Given the description of an element on the screen output the (x, y) to click on. 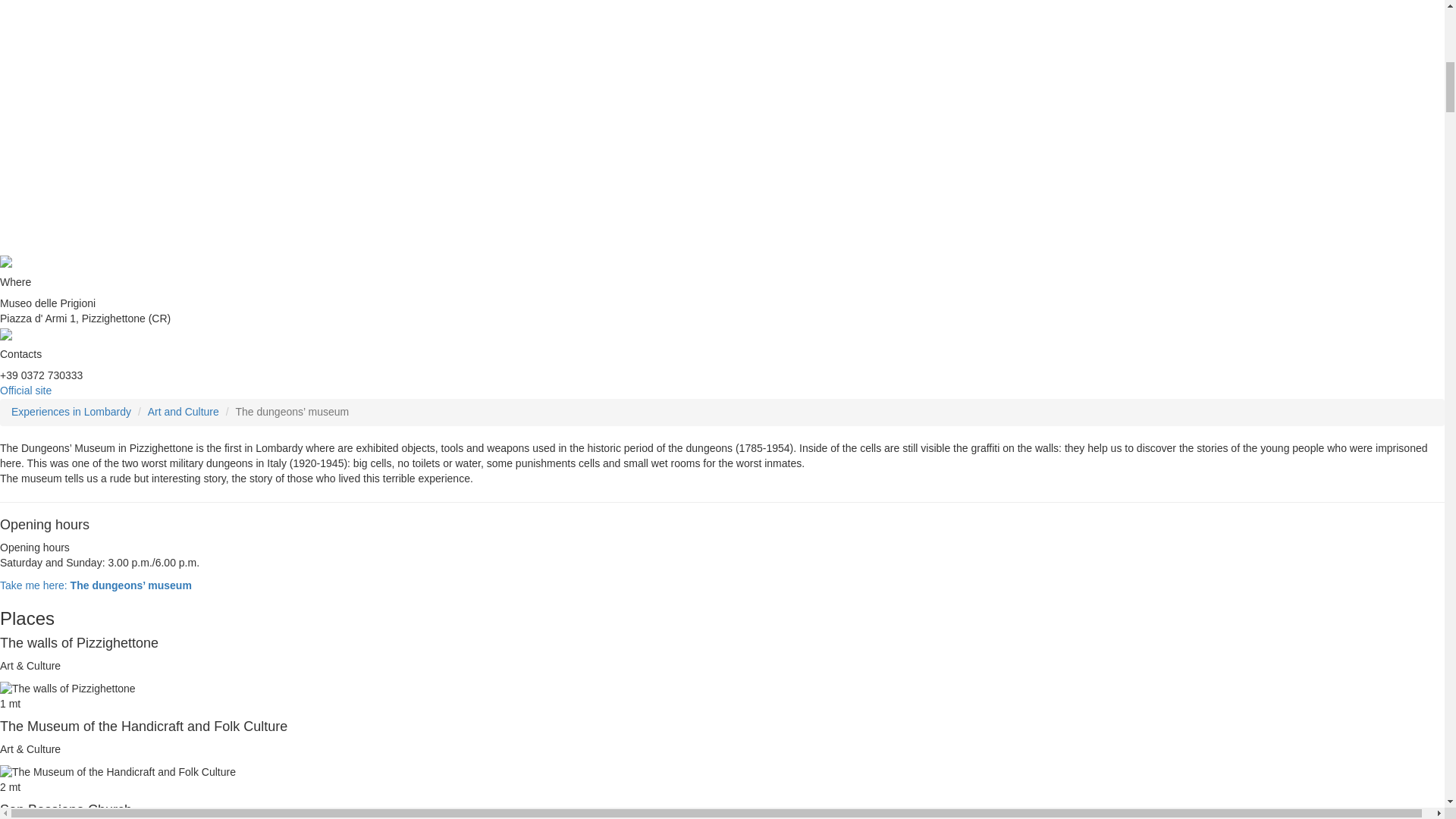
Art and Culture (183, 411)
Experiences in Lombardy (71, 411)
The walls of Pizzighettone (67, 688)
Official site (25, 390)
The Museum of the Handicraft and Folk Culture (117, 772)
